Given the description of an element on the screen output the (x, y) to click on. 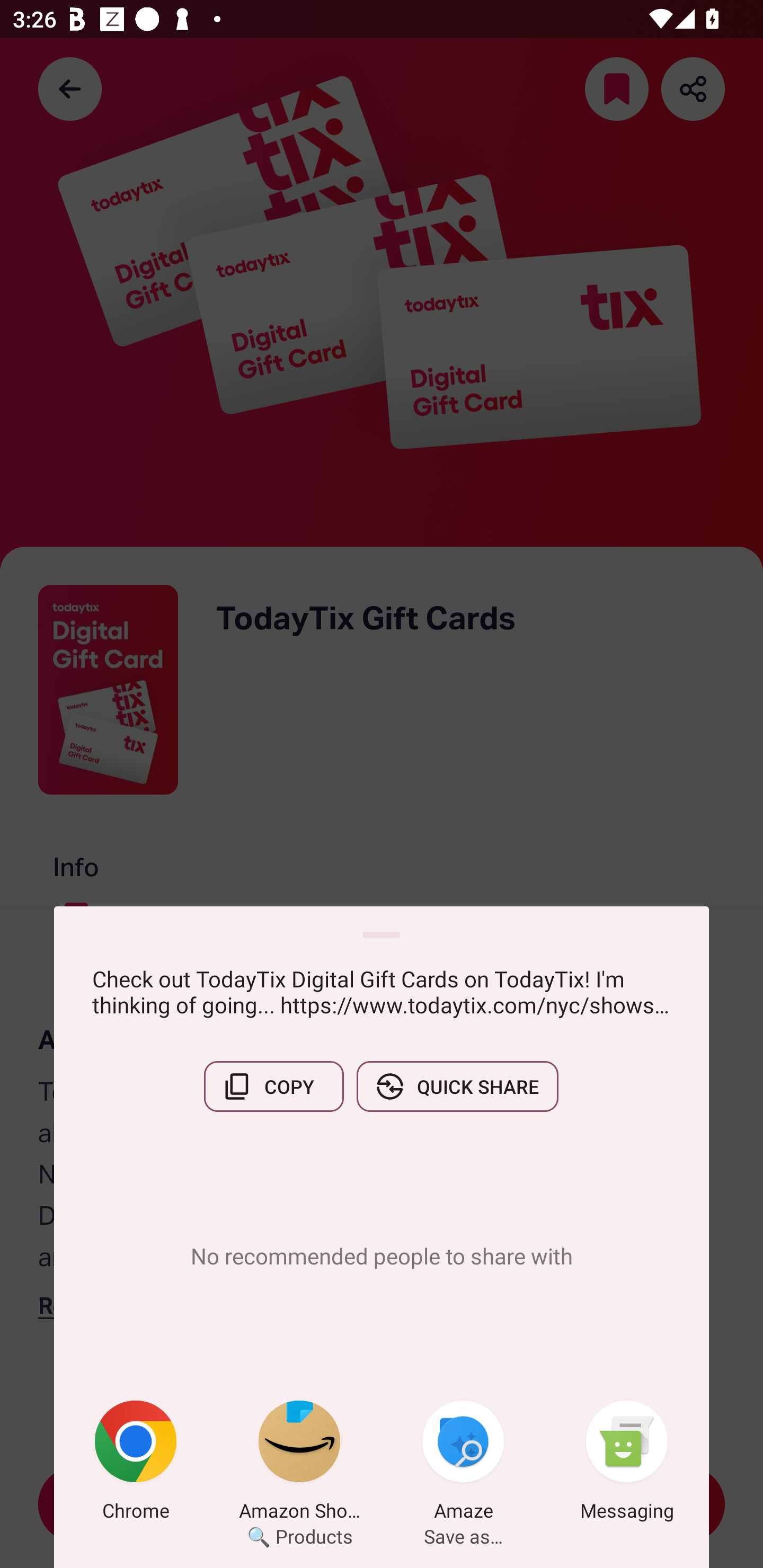
COPY (273, 1086)
QUICK SHARE (457, 1086)
Chrome (135, 1463)
Amazon Shopping 🔍 Products (299, 1463)
Amaze Save as… (463, 1463)
Messaging (626, 1463)
